Given the description of an element on the screen output the (x, y) to click on. 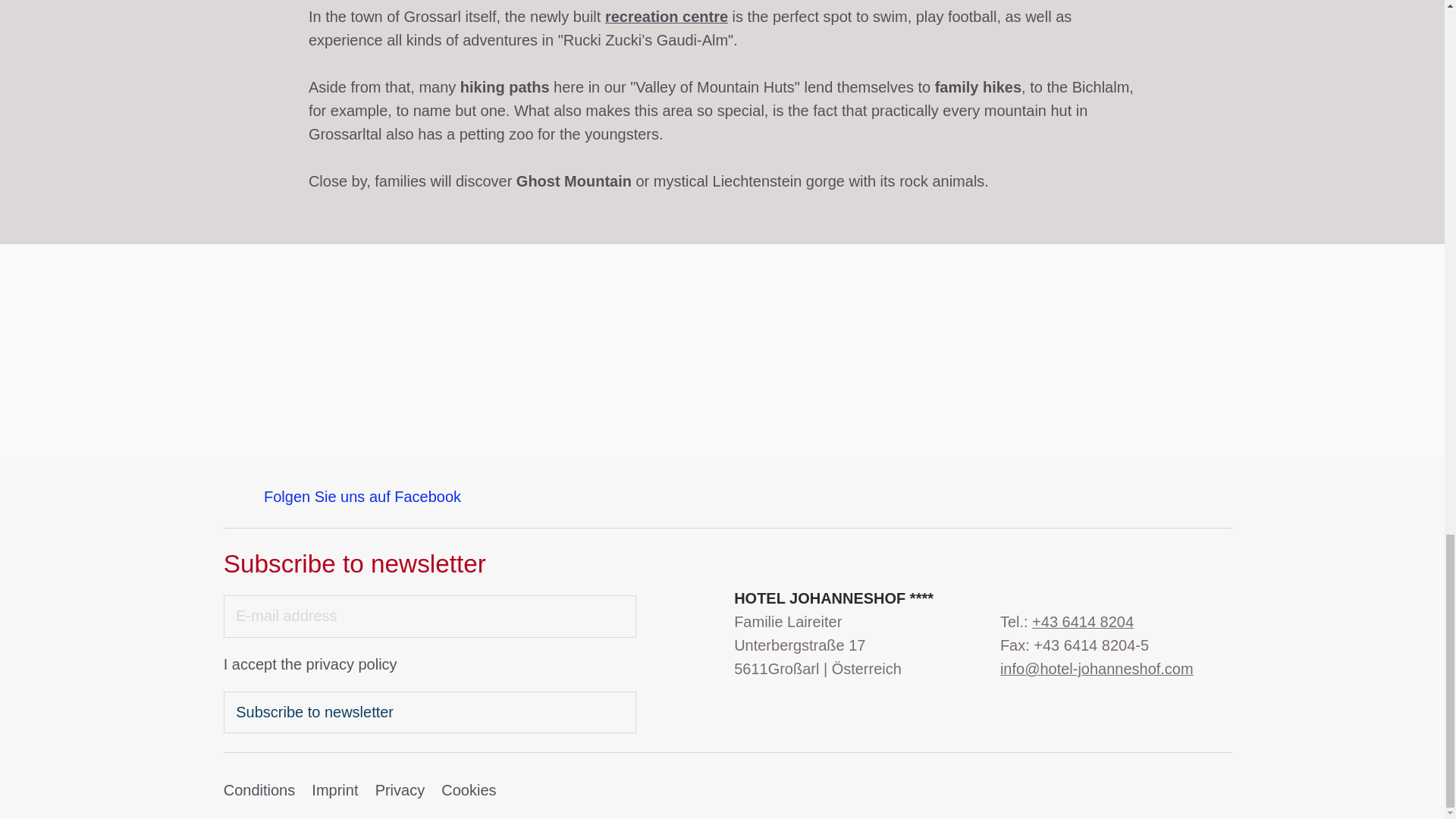
recreation centre (666, 16)
Folgen Sie uns auf Facebook (342, 495)
Conditions (259, 790)
Subscribe to newsletter (430, 712)
Subscribe to newsletter (430, 712)
